Given the description of an element on the screen output the (x, y) to click on. 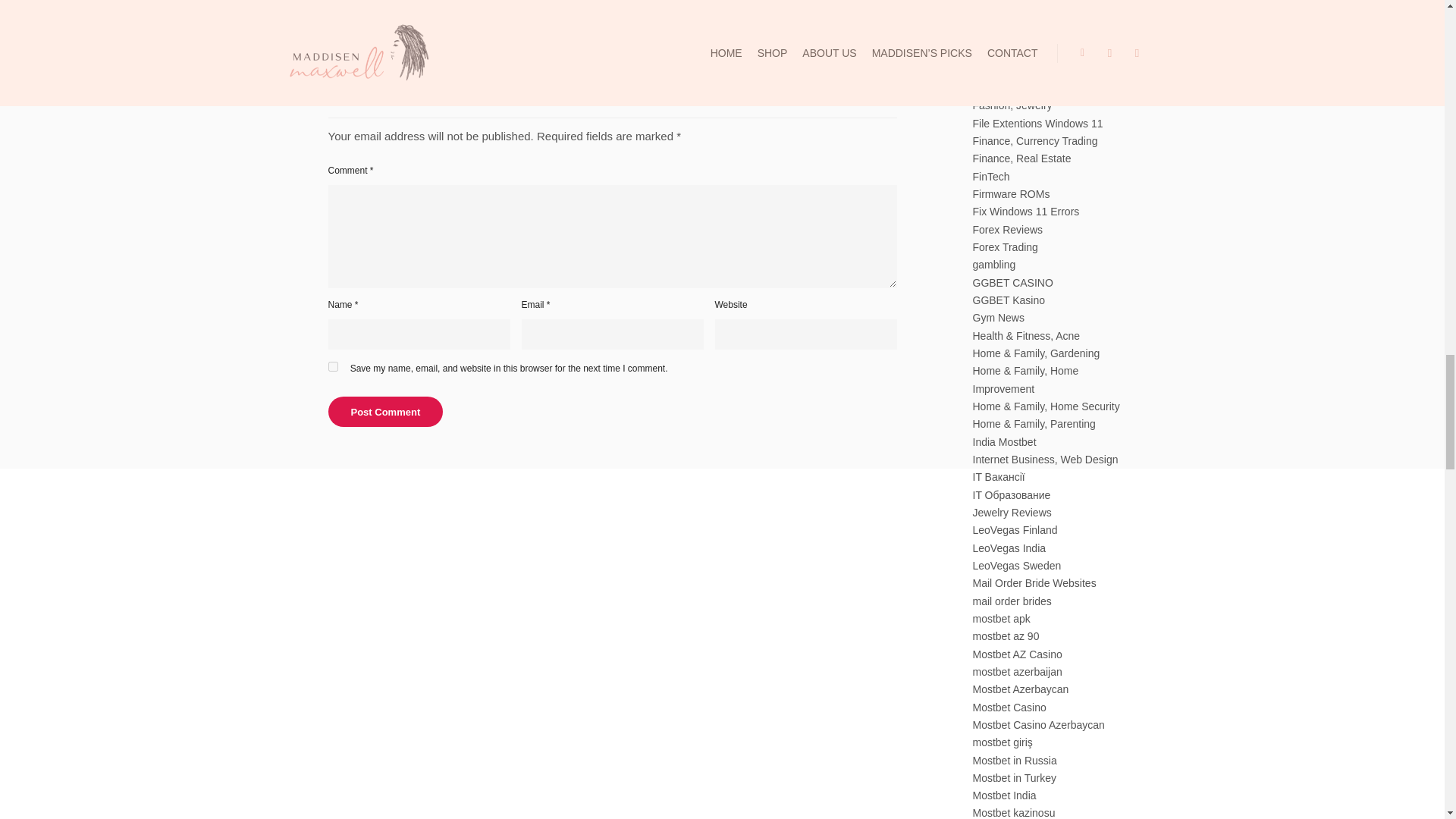
Post Comment (384, 411)
yes (332, 366)
Post Comment (754, 6)
